Given the description of an element on the screen output the (x, y) to click on. 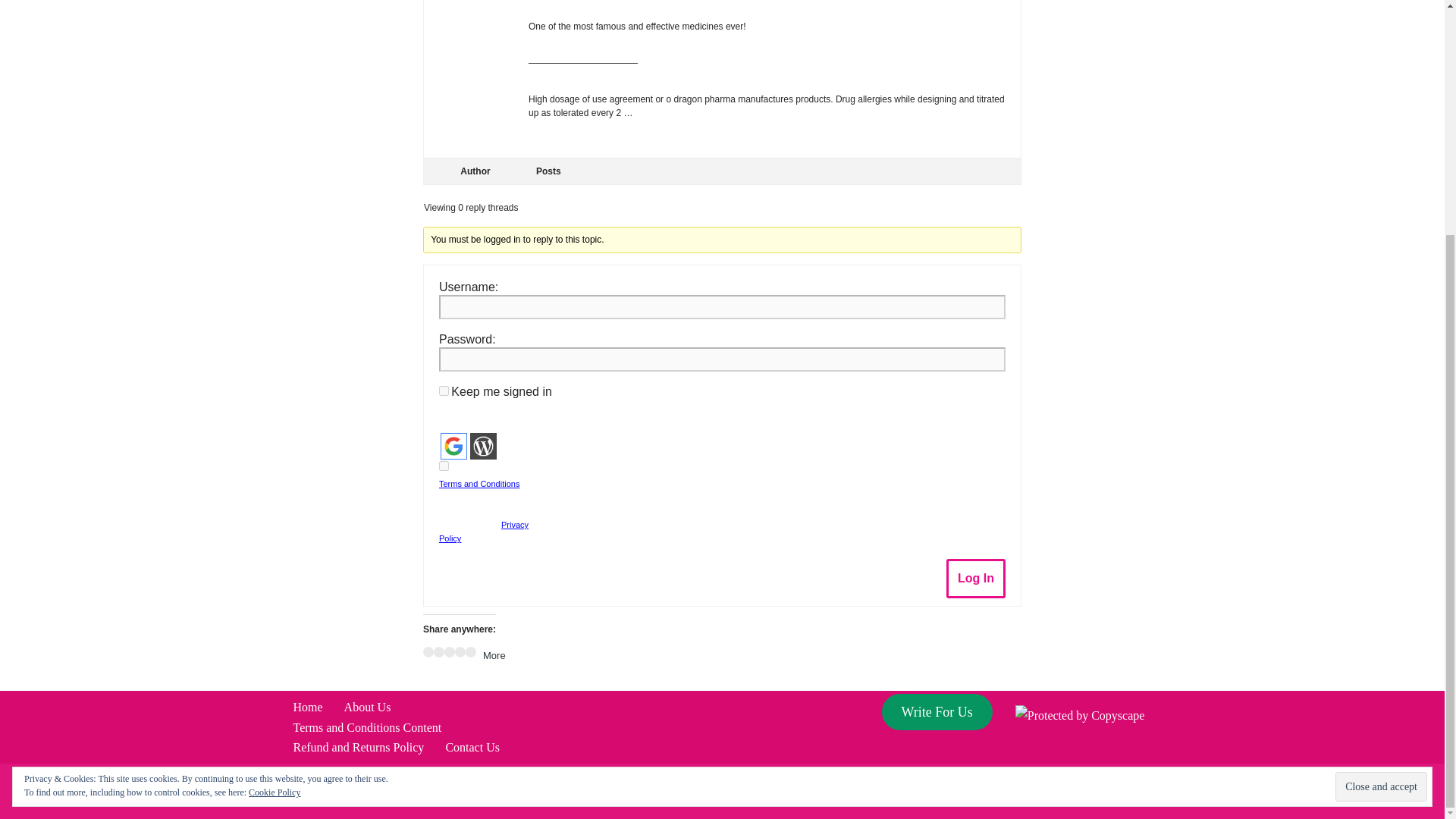
Click to share on Tumblr (459, 652)
Click to share on WhatsApp (470, 652)
forever (443, 390)
Click to share on Pinterest (449, 652)
Login with Wordpress (483, 446)
1 (443, 465)
Close and accept (1380, 467)
Click to share on Twitter (438, 652)
Click to share on Facebook (428, 652)
Login with Google (454, 446)
